Given the description of an element on the screen output the (x, y) to click on. 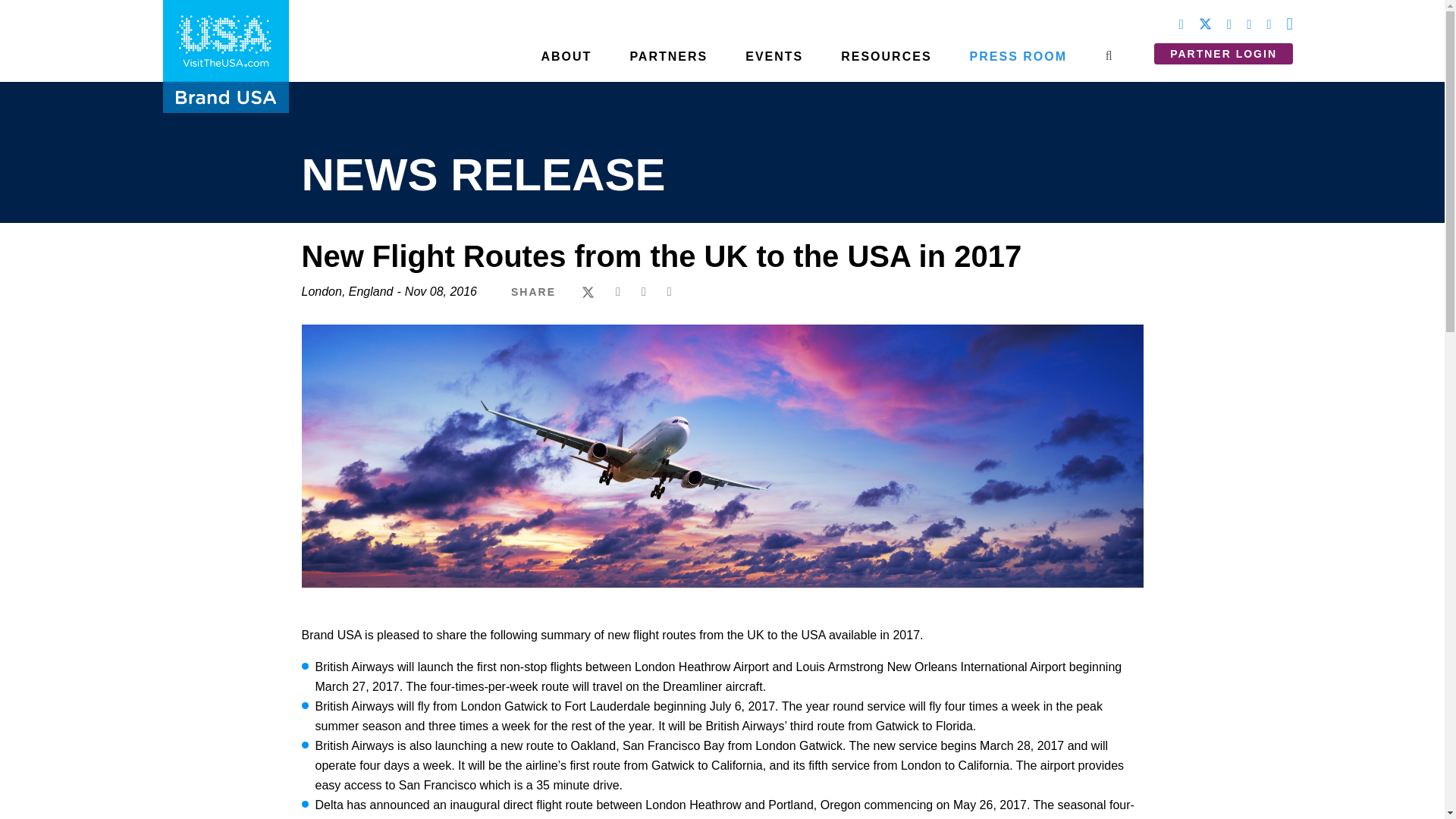
EVENTS (774, 62)
Home (225, 40)
ABOUT (565, 62)
PRESS ROOM (1018, 62)
PARTNERS (668, 62)
RESOURCES (886, 62)
PARTNER LOGIN (1223, 53)
